Given the description of an element on the screen output the (x, y) to click on. 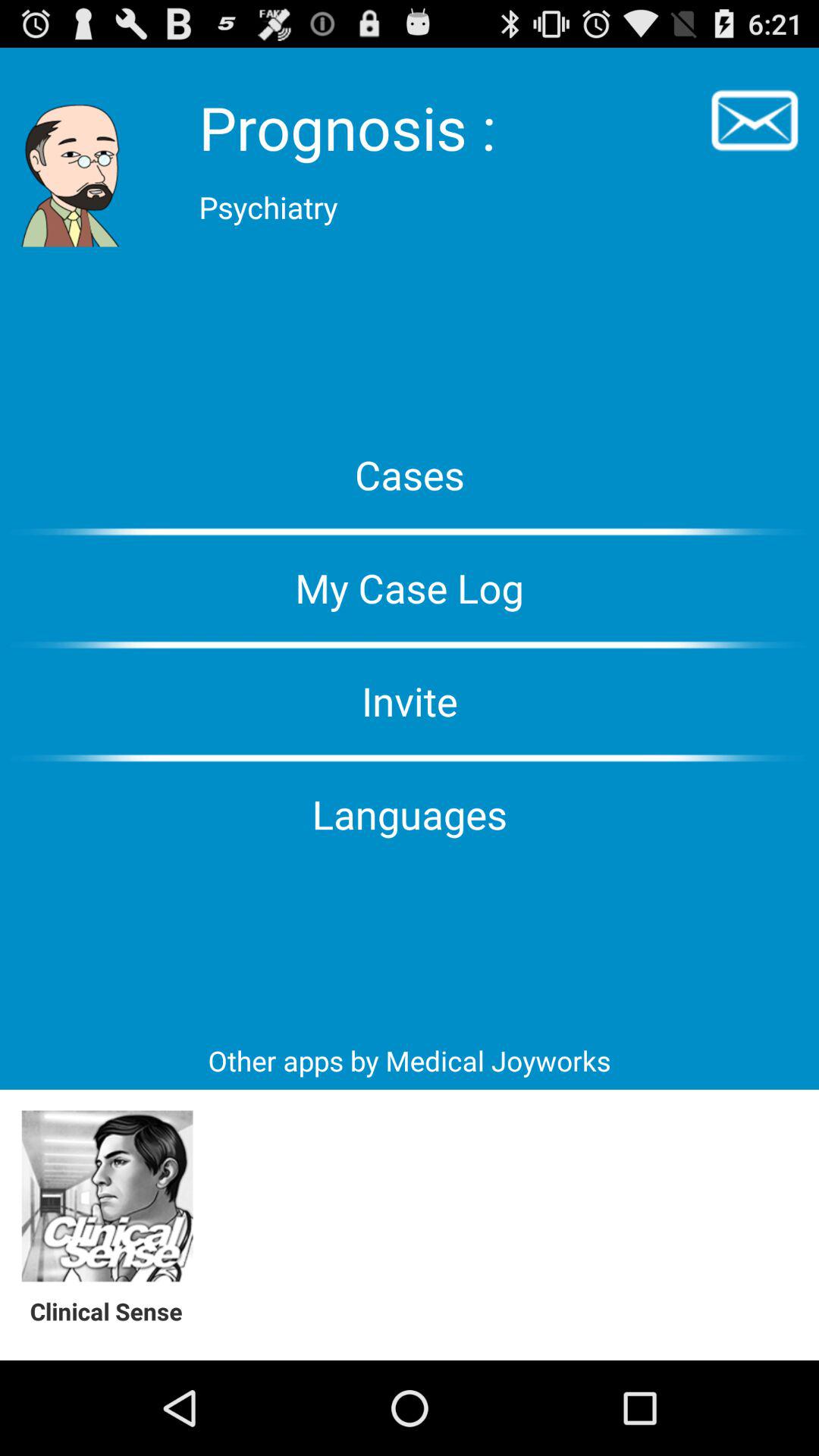
launch the cases (409, 474)
